Given the description of an element on the screen output the (x, y) to click on. 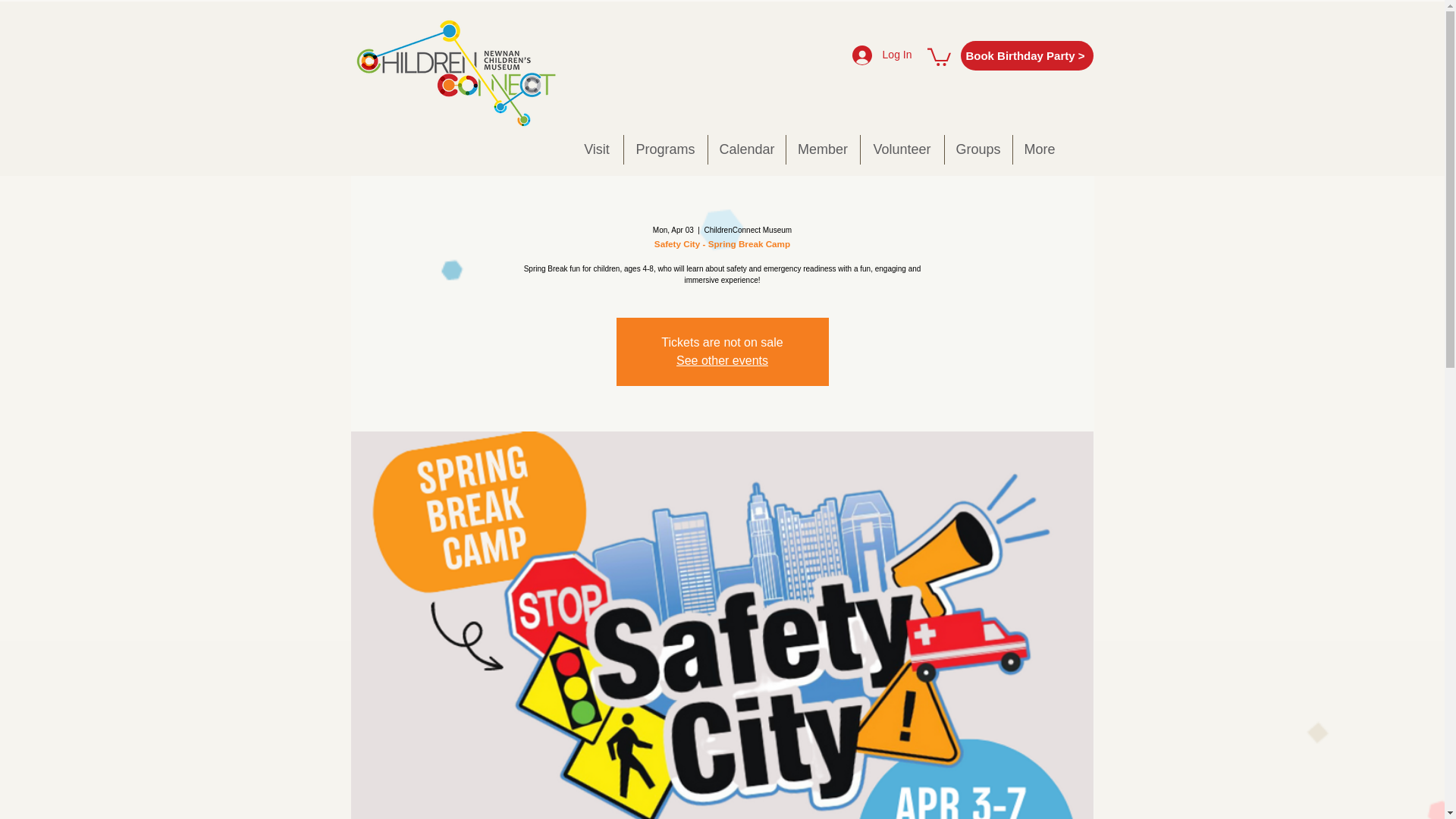
Groups (977, 149)
Programs (664, 149)
Visit (596, 149)
Log In (882, 54)
Calendar (746, 149)
See other events (722, 359)
Volunteer (901, 149)
Member (822, 149)
